Given the description of an element on the screen output the (x, y) to click on. 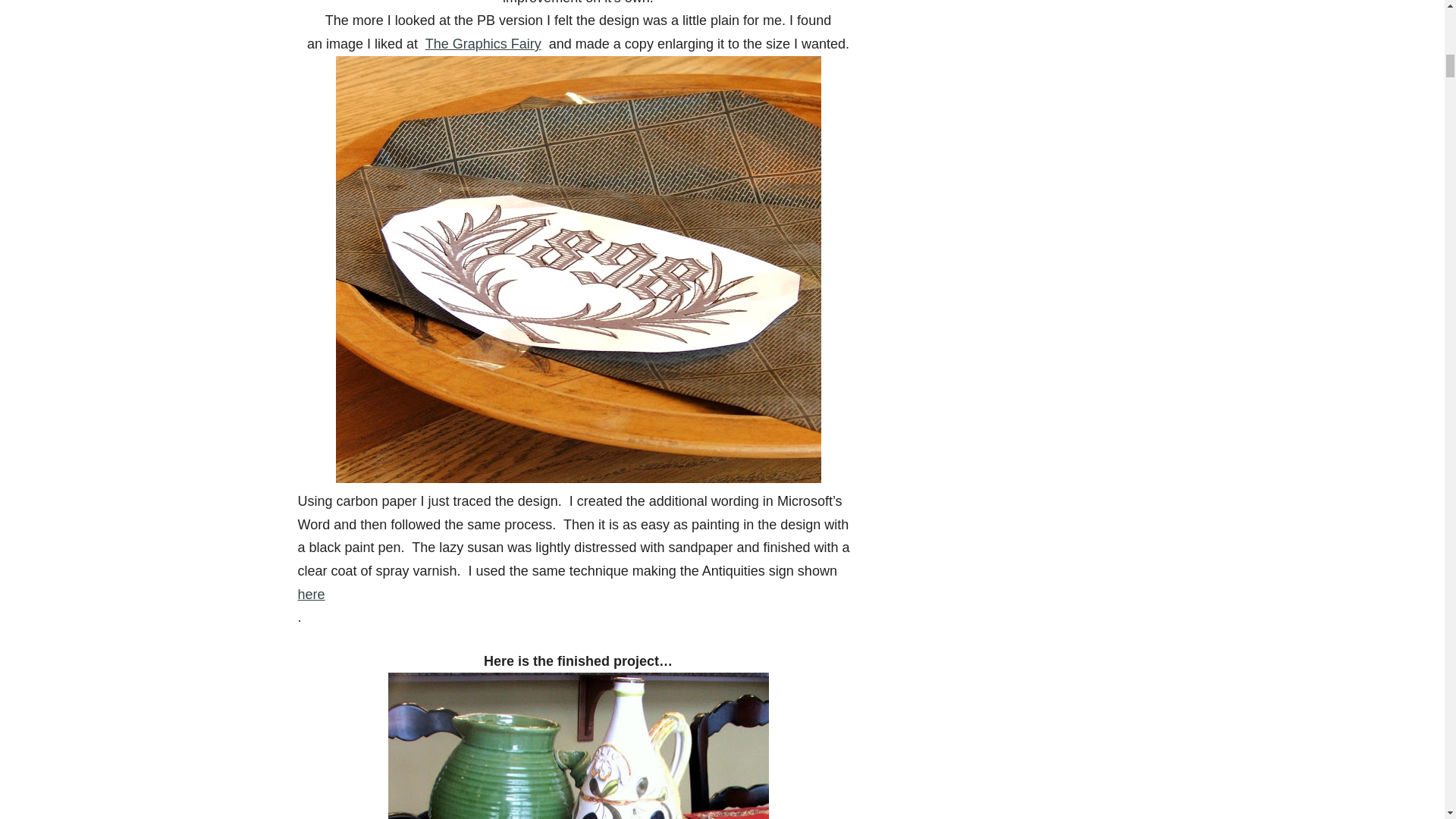
The Graphics Fairy (483, 43)
here (310, 594)
